Given the description of an element on the screen output the (x, y) to click on. 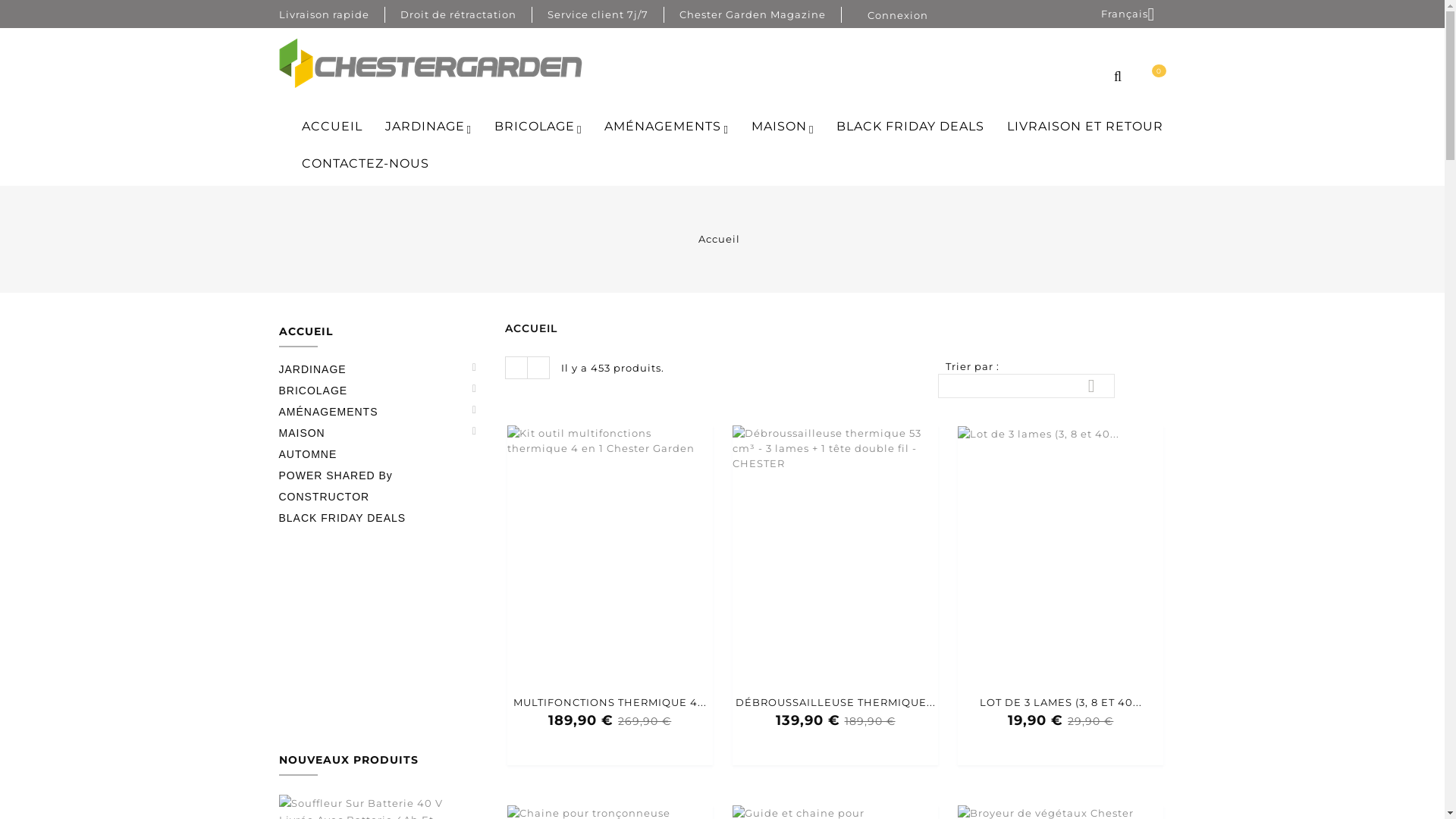
BLACK FRIDAY DEALS Element type: text (372, 517)
List Element type: text (538, 367)
Grid Element type: text (516, 367)
ACCUEIL Element type: text (331, 125)
Accueil Element type: text (719, 238)
MAISON Element type: text (782, 125)
Livraison rapide Element type: text (324, 14)
AUTOMNE Element type: text (372, 453)
LIVRAISON ET RETOUR Element type: text (1084, 125)
ACCUEIL Element type: text (305, 334)
BLACK FRIDAY DEALS Element type: text (910, 125)
Service client 7j/7 Element type: text (597, 14)
0 Element type: text (1151, 80)
JARDINAGE Element type: text (427, 125)
MULTIFONCTIONS THERMIQUE 4... Element type: text (609, 701)
BRICOLAGE Element type: text (538, 125)
MAISON Element type: text (372, 432)
JARDINAGE Element type: text (372, 368)
Connexion Element type: text (897, 15)
CONTACTEZ-NOUS Element type: text (364, 163)
LOT DE 3 LAMES (3, 8 ET 40... Element type: text (1060, 701)
Chester Garden Magazine Element type: text (752, 14)
BRICOLAGE Element type: text (372, 390)
POWER SHARED By CONSTRUCTOR Element type: text (372, 485)
